Given the description of an element on the screen output the (x, y) to click on. 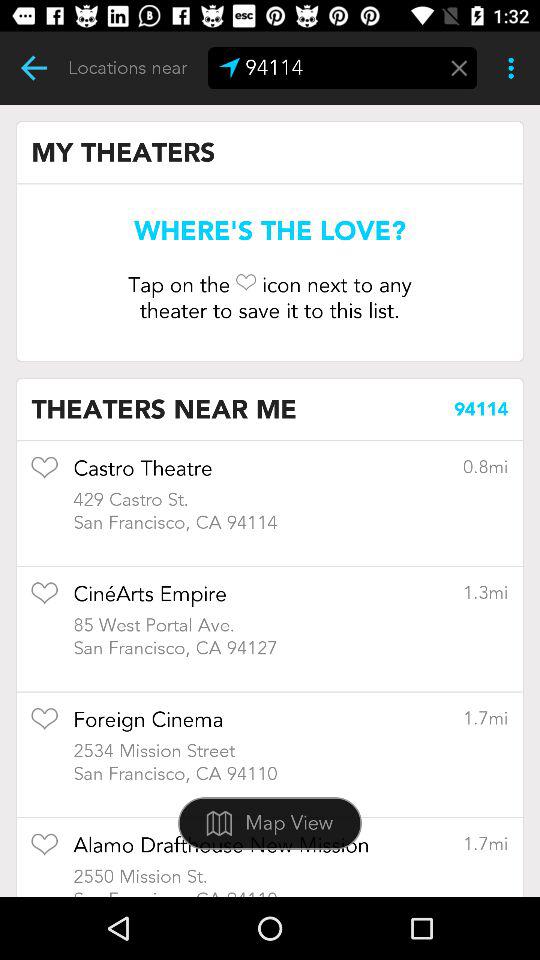
add item to favorites (44, 725)
